Given the description of an element on the screen output the (x, y) to click on. 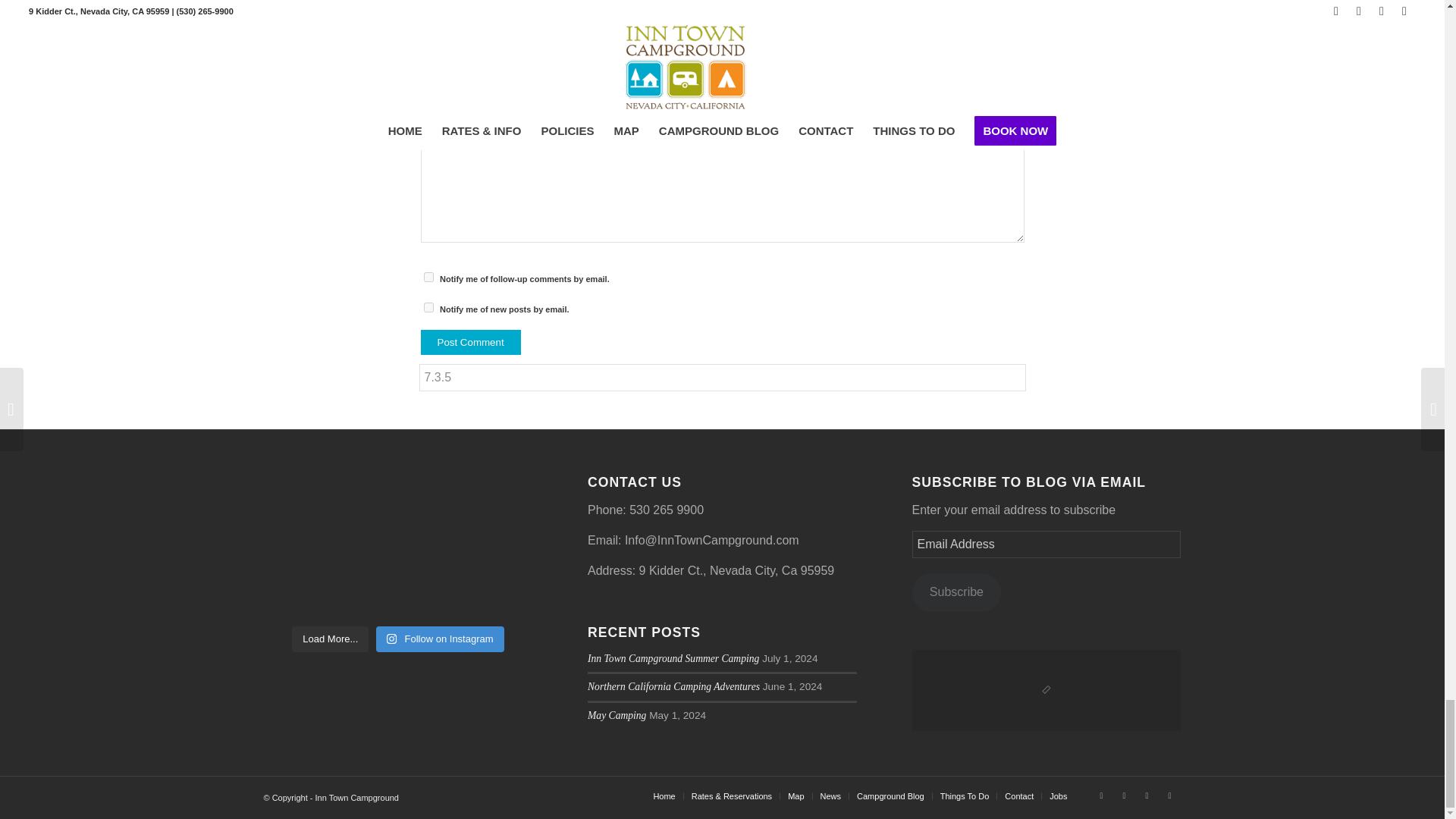
Post Comment (469, 342)
subscribe (427, 276)
7.3.5 (722, 377)
subscribe (427, 307)
